Given the description of an element on the screen output the (x, y) to click on. 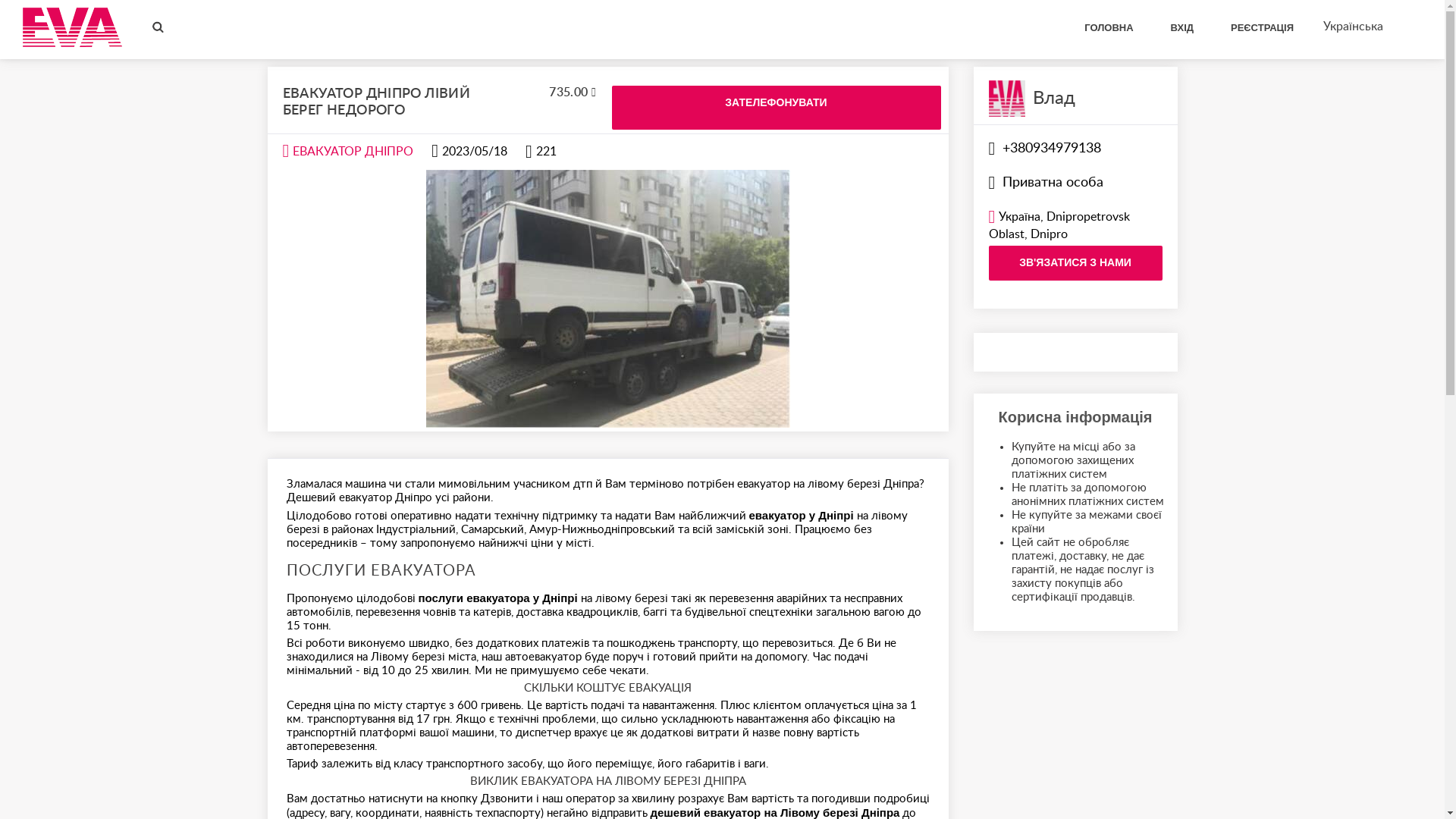
eva Element type: hover (72, 27)
